Given the description of an element on the screen output the (x, y) to click on. 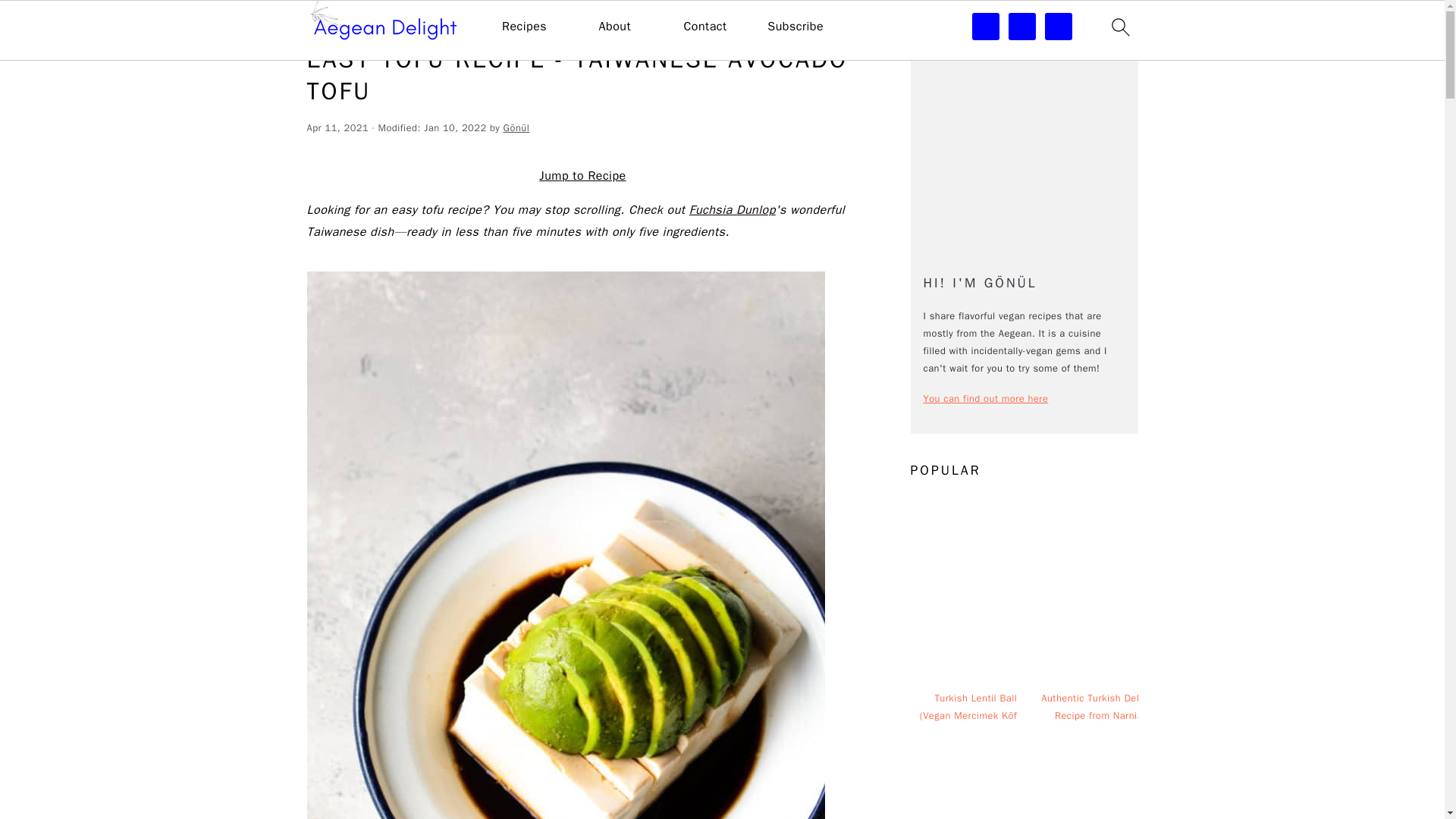
search icon (1119, 26)
Recipes (361, 23)
All Recipes (416, 23)
Home (319, 23)
Contact (704, 26)
Jump to Recipe (582, 176)
Recipes (524, 26)
About (614, 26)
Subscribe (795, 26)
